Given the description of an element on the screen output the (x, y) to click on. 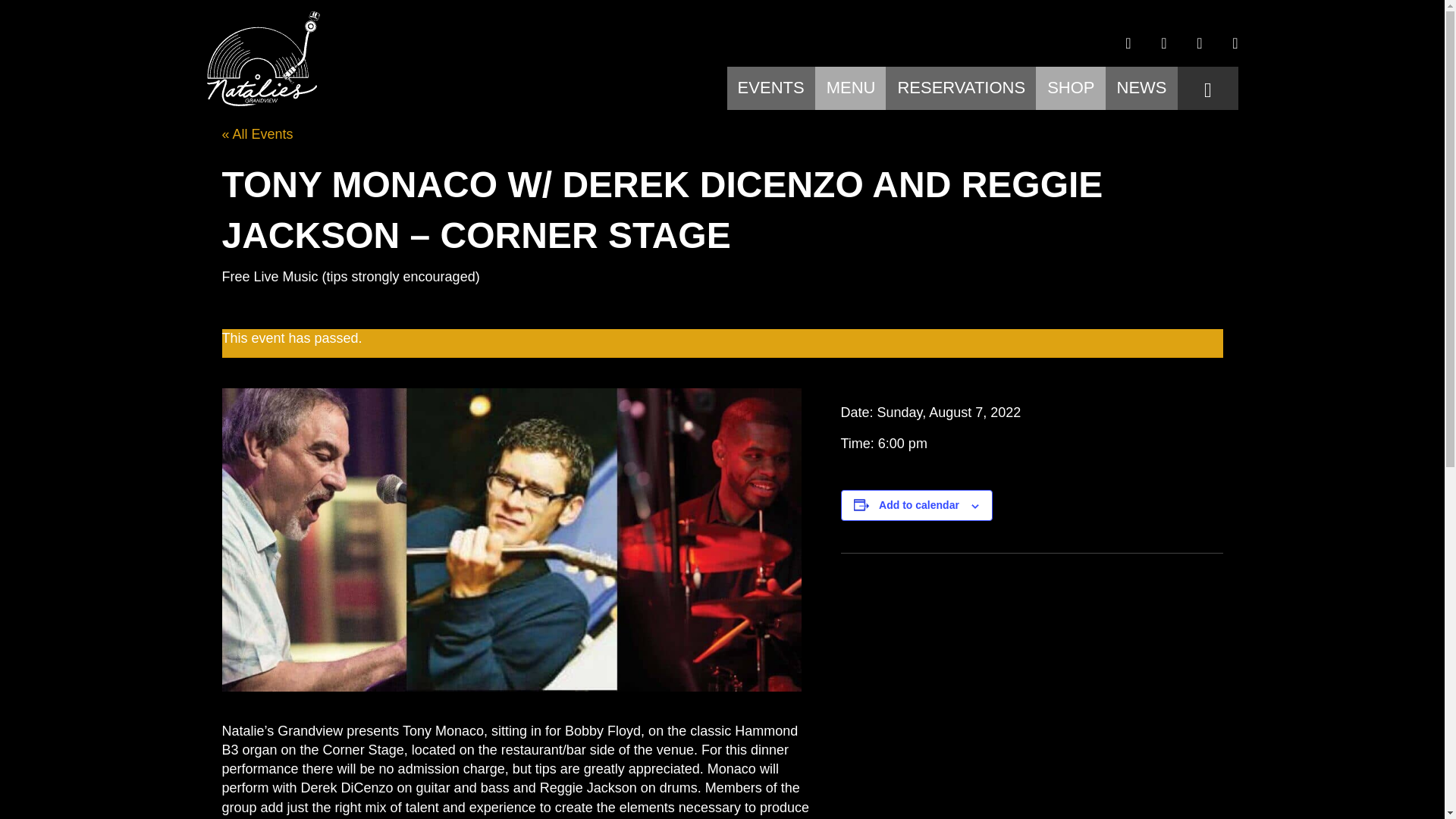
Add to calendar (919, 504)
MENU (851, 90)
SHOP (1070, 90)
RESERVATIONS (960, 90)
Natalies-Grandview-logo-149x125 (262, 58)
NEWS (1141, 90)
EVENTS (771, 90)
